Given the description of an element on the screen output the (x, y) to click on. 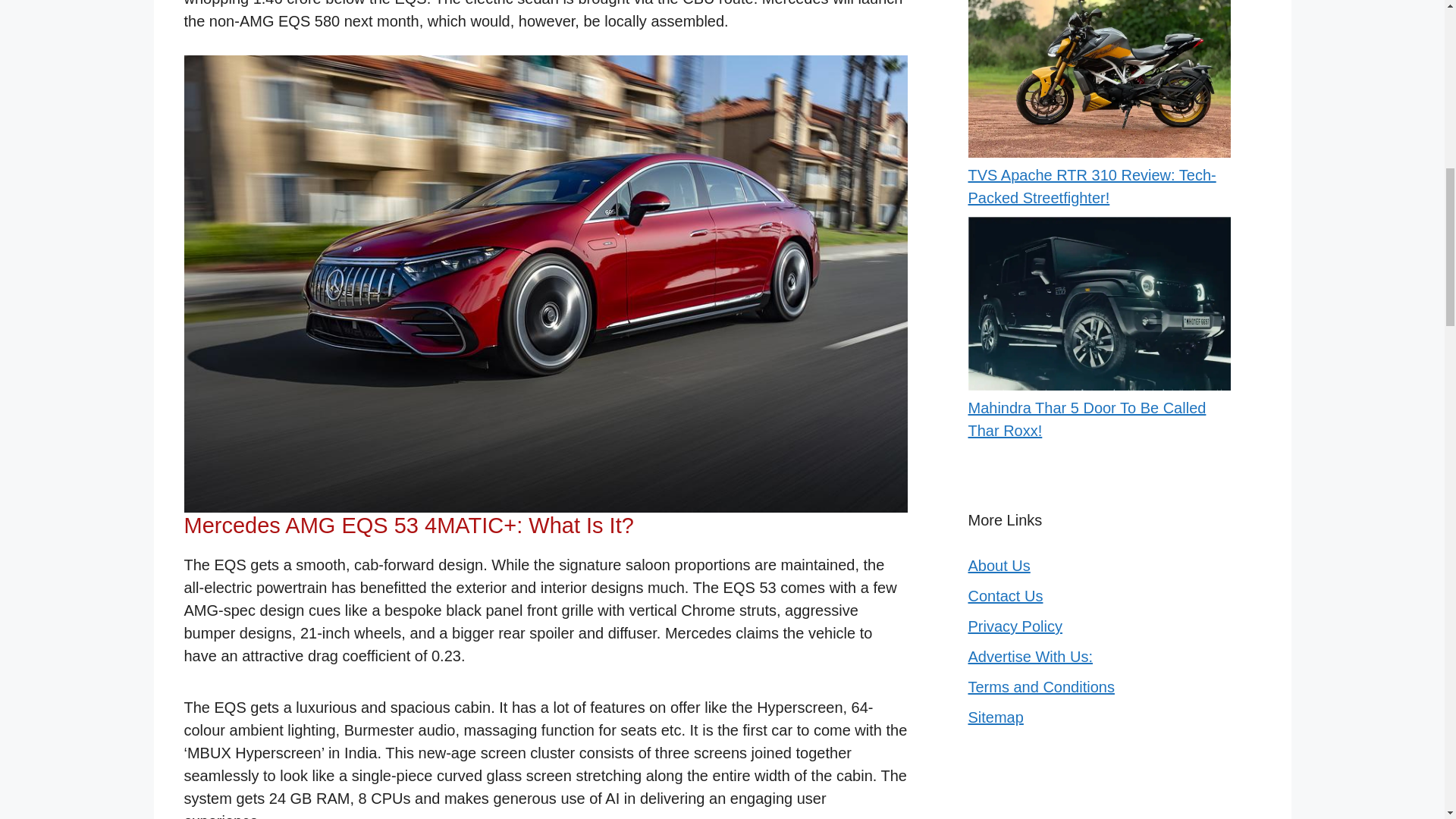
Terms and Conditions (1040, 686)
About Us (998, 565)
Privacy Policy (1014, 626)
Scroll back to top (1406, 720)
Sitemap (995, 717)
Mahindra Thar 5 Door To Be Called Thar Roxx! (1086, 418)
TVS Apache RTR 310 Review: Tech-Packed Streetfighter! (1091, 186)
Contact Us (1005, 596)
Advertise With Us: (1030, 656)
